Given the description of an element on the screen output the (x, y) to click on. 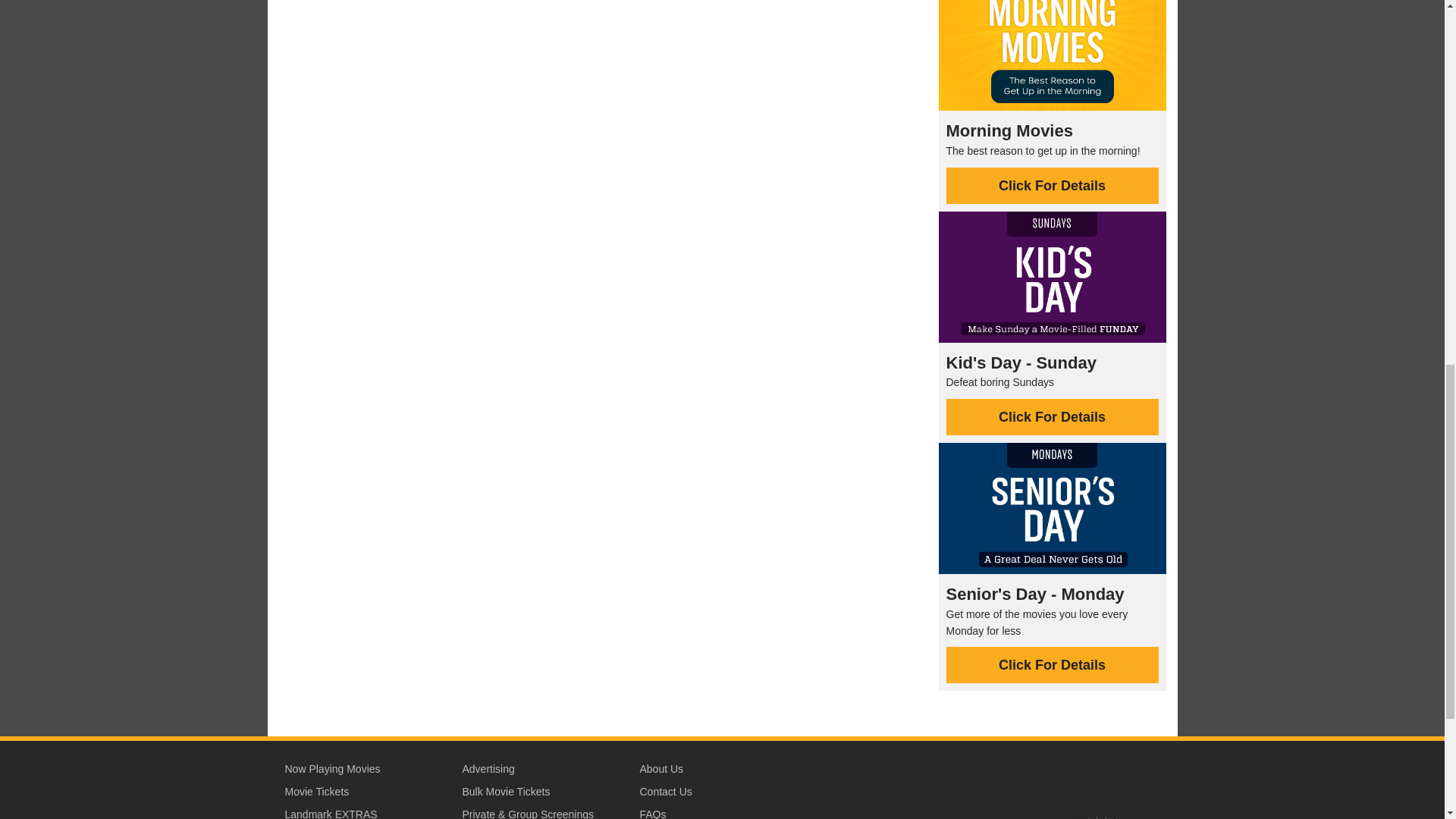
Click For Details (1052, 185)
